Given the description of an element on the screen output the (x, y) to click on. 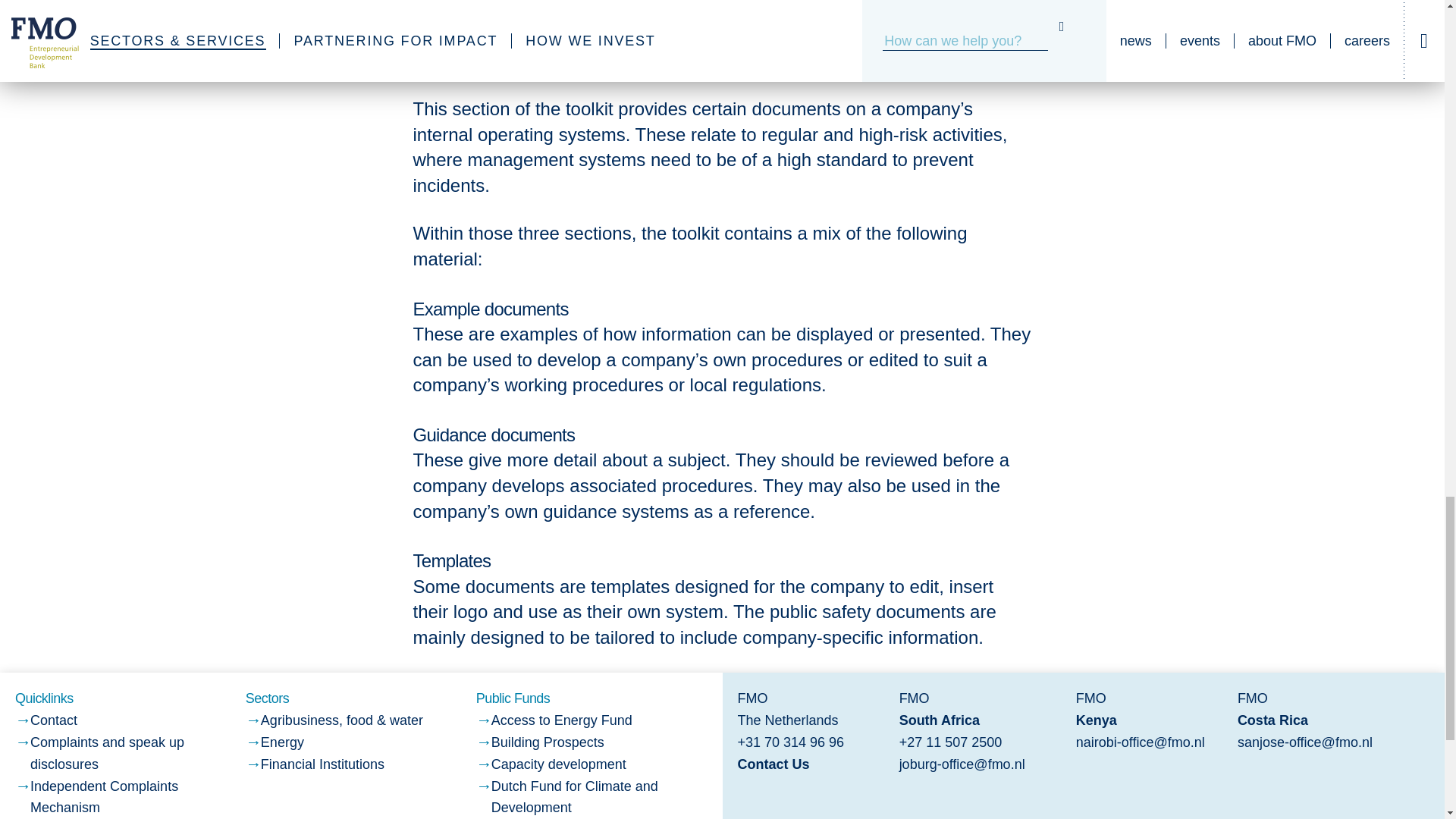
Independent Complaints Mechanism (103, 796)
Contact (53, 720)
Complaints and speak up disclosures (107, 753)
